Given the description of an element on the screen output the (x, y) to click on. 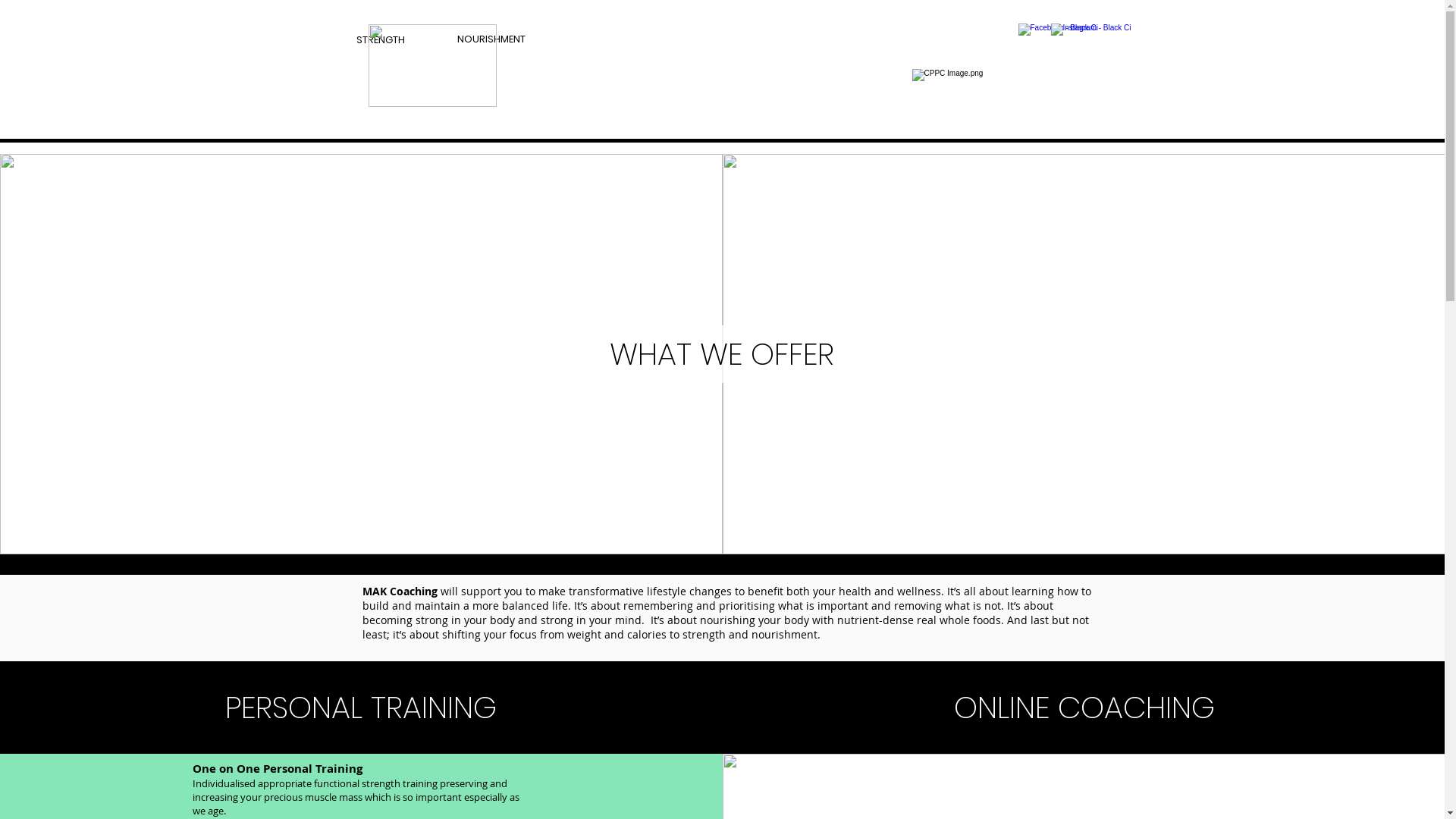
New Website MAK Coaching Element type: text (715, 131)
0 Element type: text (1075, 29)
STRENGTH Element type: text (380, 39)
NOURISHMENT Element type: text (491, 38)
One on One Personal Training Element type: text (277, 767)
